Given the description of an element on the screen output the (x, y) to click on. 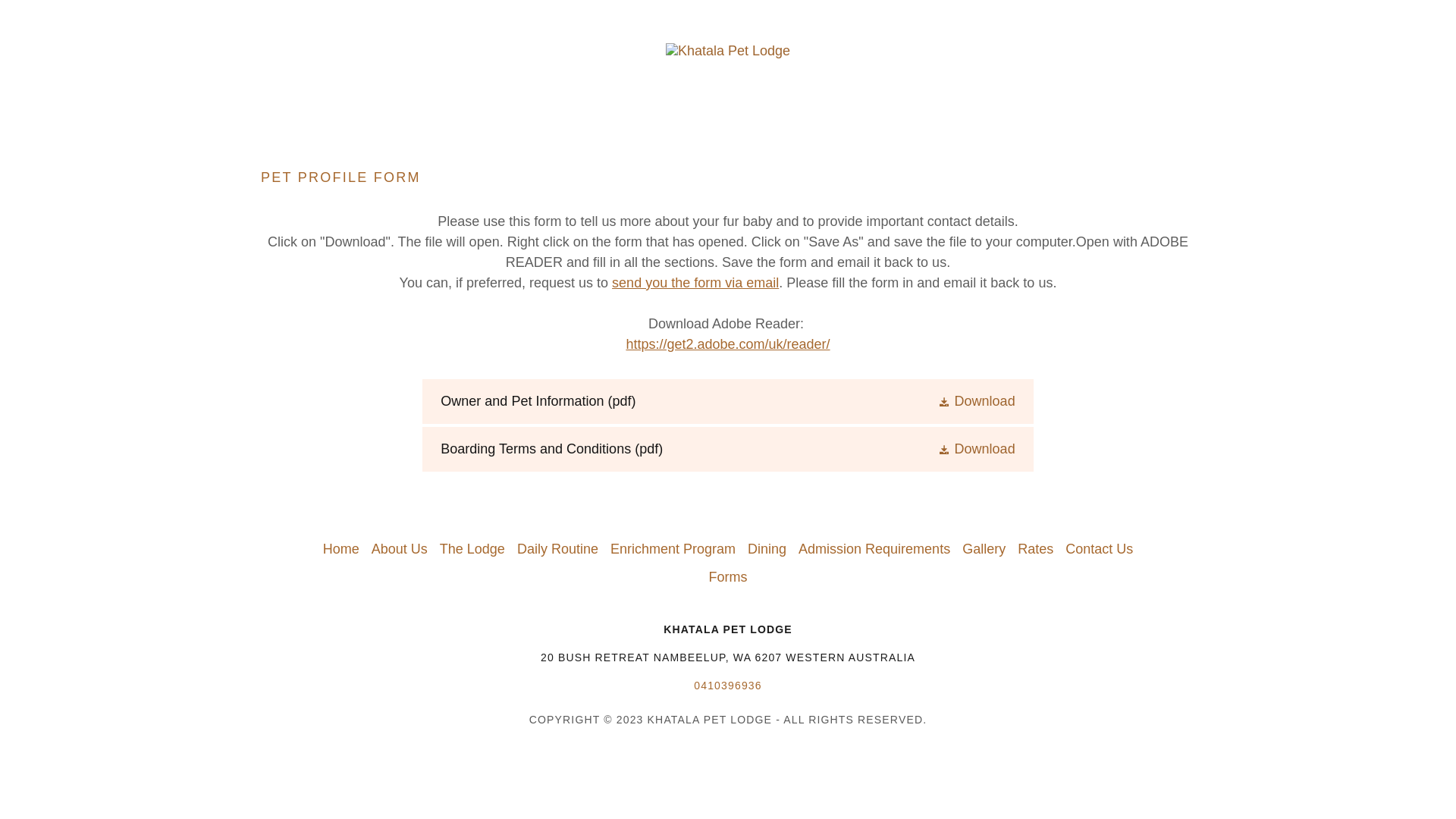
https://get2.adobe.com/uk/reader/ Element type: text (727, 343)
Home Element type: text (340, 549)
Owner and Pet Information (pdf)
Download Element type: text (727, 401)
The Lodge Element type: text (472, 549)
Forms Element type: text (727, 577)
Enrichment Program Element type: text (672, 549)
Admission Requirements Element type: text (874, 549)
Gallery Element type: text (983, 549)
Dining Element type: text (766, 549)
Rates Element type: text (1035, 549)
Contact Us Element type: text (1099, 549)
send you the form via email Element type: text (694, 282)
About Us Element type: text (399, 549)
Khatala Pet Lodge Element type: hover (727, 49)
0410396936 Element type: text (727, 685)
Daily Routine Element type: text (557, 549)
Boarding Terms and Conditions (pdf)
Download Element type: text (727, 448)
